Given the description of an element on the screen output the (x, y) to click on. 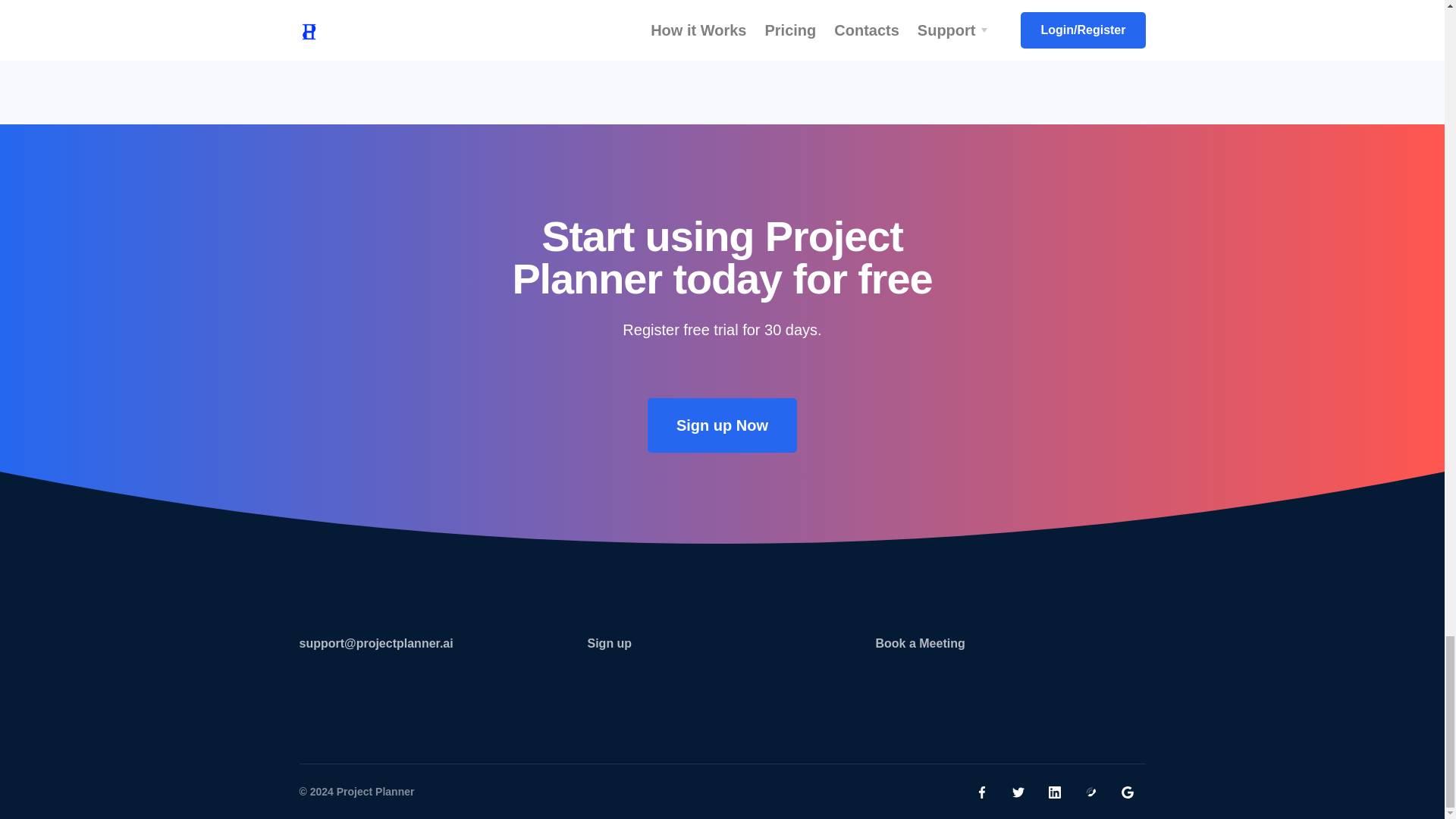
Uncategorized (948, 2)
LinkedIn icon (1053, 792)
Book a Meeting (919, 643)
Twitter icon (1017, 792)
Sign up Now (721, 425)
Sign up (608, 643)
Active-call (1090, 792)
Google icon (1126, 792)
